Given the description of an element on the screen output the (x, y) to click on. 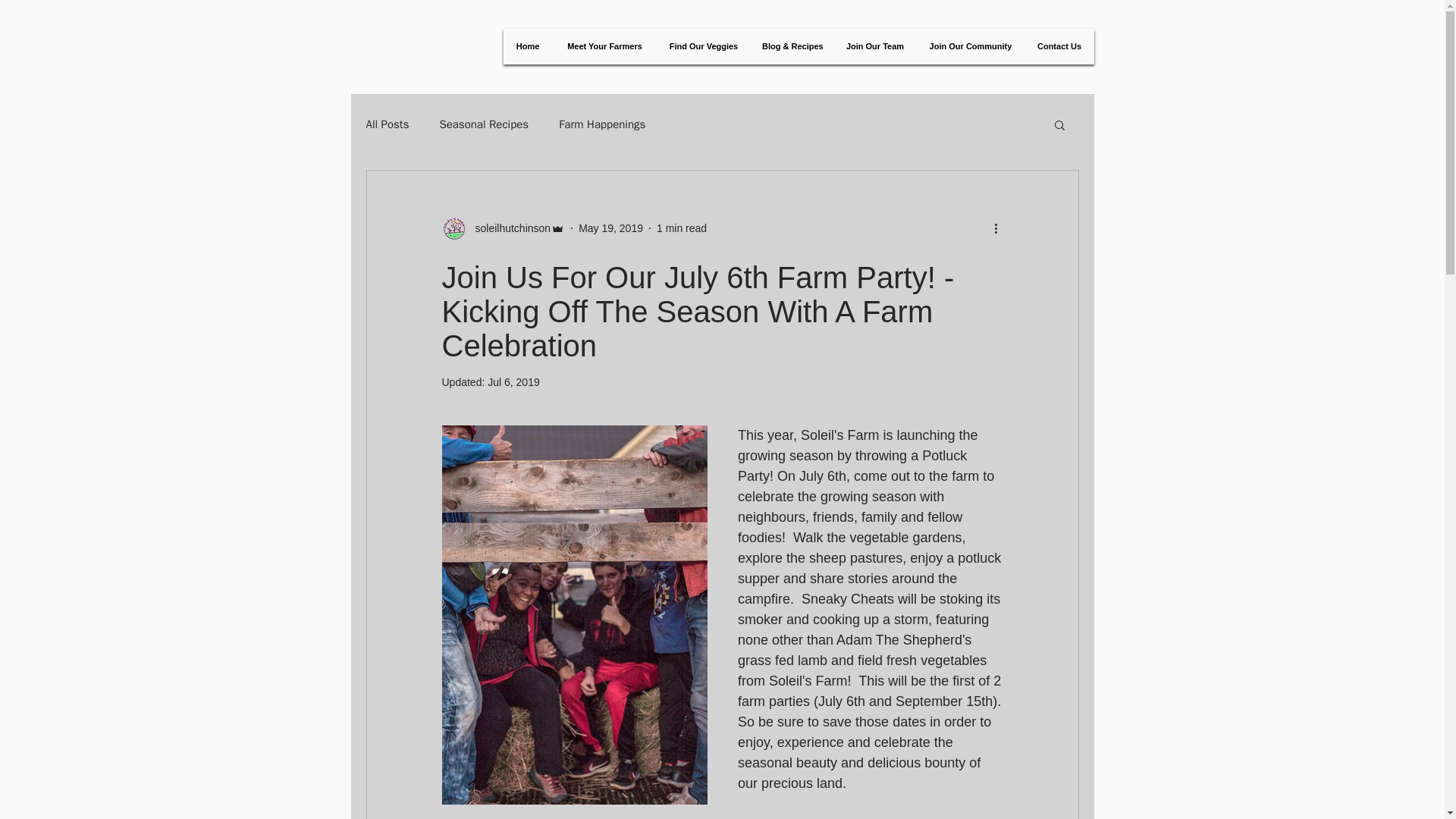
Farm Happenings (602, 124)
Jul 6, 2019 (513, 381)
Find Our Veggies (702, 46)
All Posts (387, 124)
May 19, 2019 (610, 227)
Contact Us (1059, 46)
Join Our Community (970, 46)
Meet Your Farmers (603, 46)
Join Our Team (875, 46)
Home (528, 46)
Seasonal Recipes (483, 124)
soleilhutchinson (507, 227)
1 min read (681, 227)
